Given the description of an element on the screen output the (x, y) to click on. 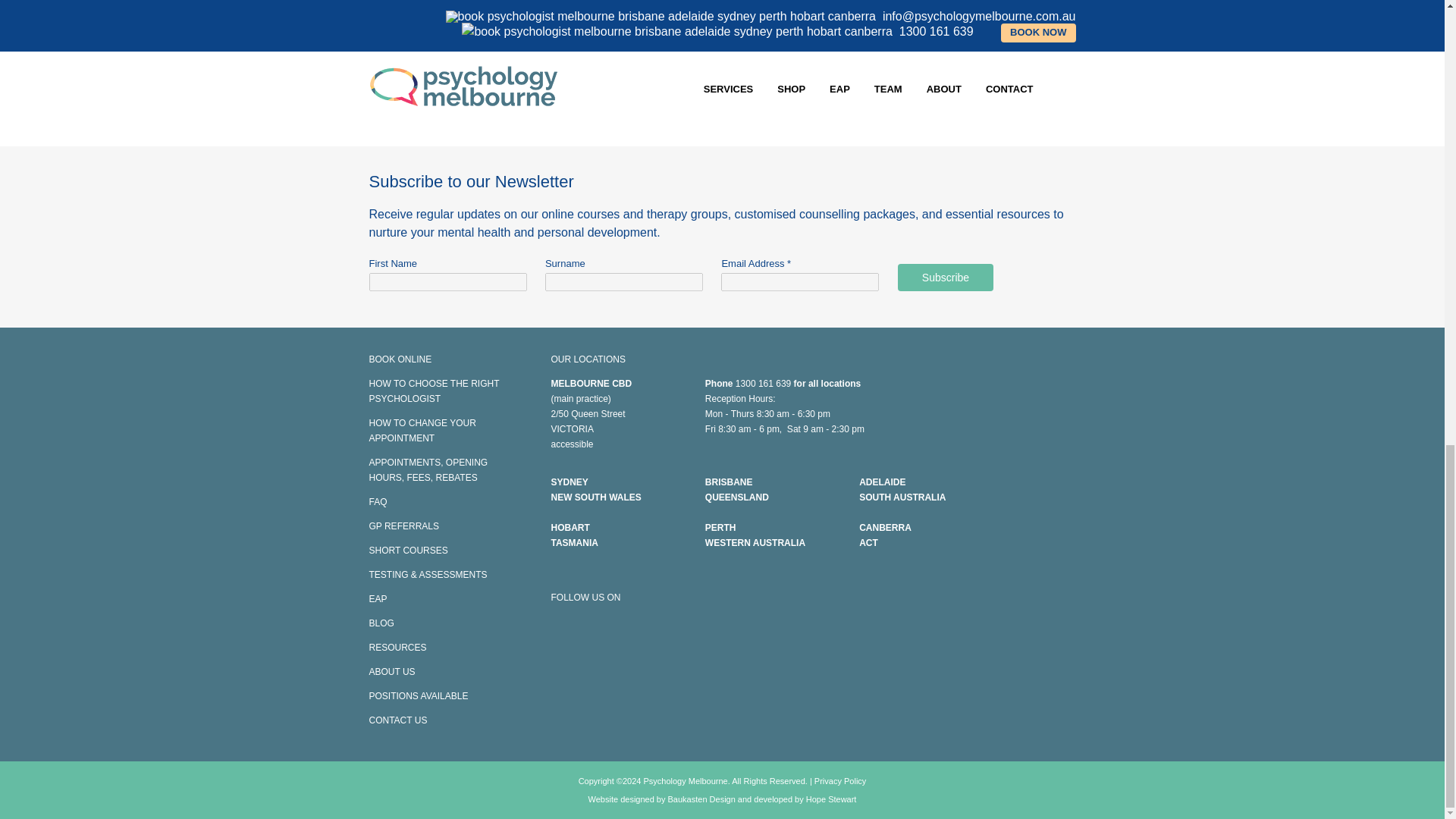
Subscribe (945, 277)
